Given the description of an element on the screen output the (x, y) to click on. 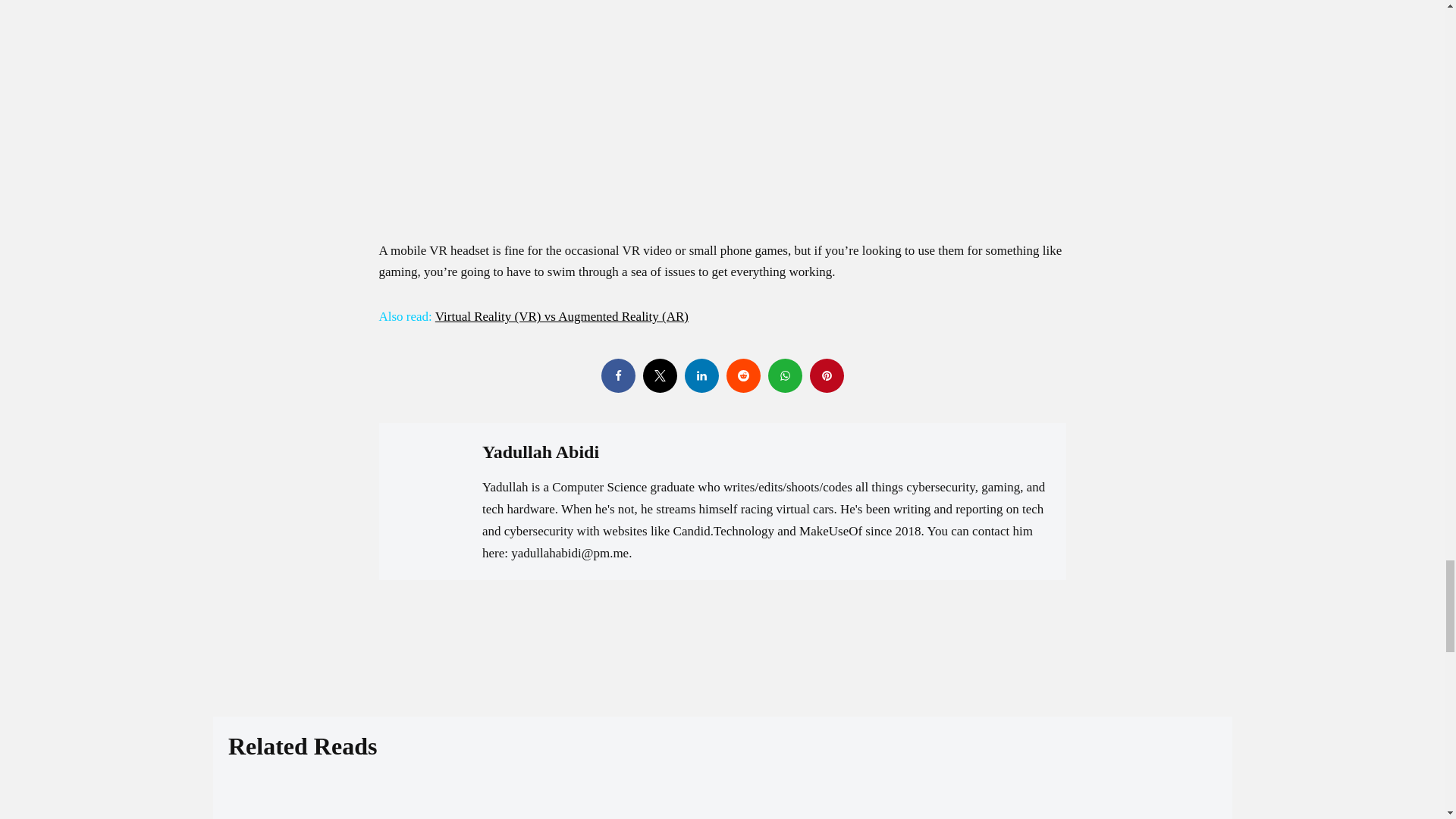
Twitter (660, 375)
Linkedin (700, 375)
Facebook (616, 375)
